Given the description of an element on the screen output the (x, y) to click on. 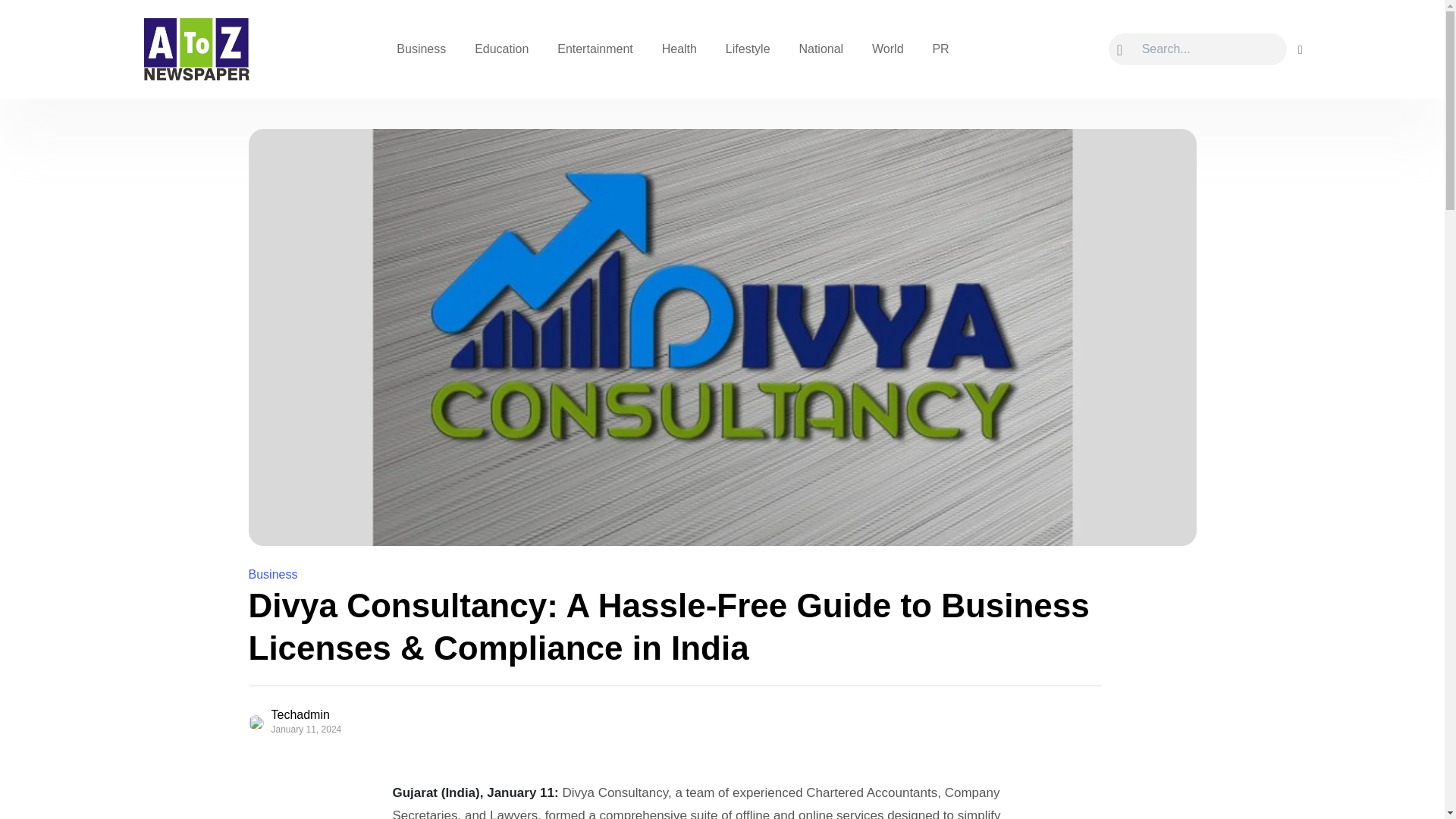
Education (501, 49)
Business (421, 49)
PR (939, 49)
Entertainment (595, 49)
Health (679, 49)
World (888, 49)
Lifestyle (748, 49)
Techadmin (311, 715)
National (821, 49)
Business (273, 574)
